Given the description of an element on the screen output the (x, y) to click on. 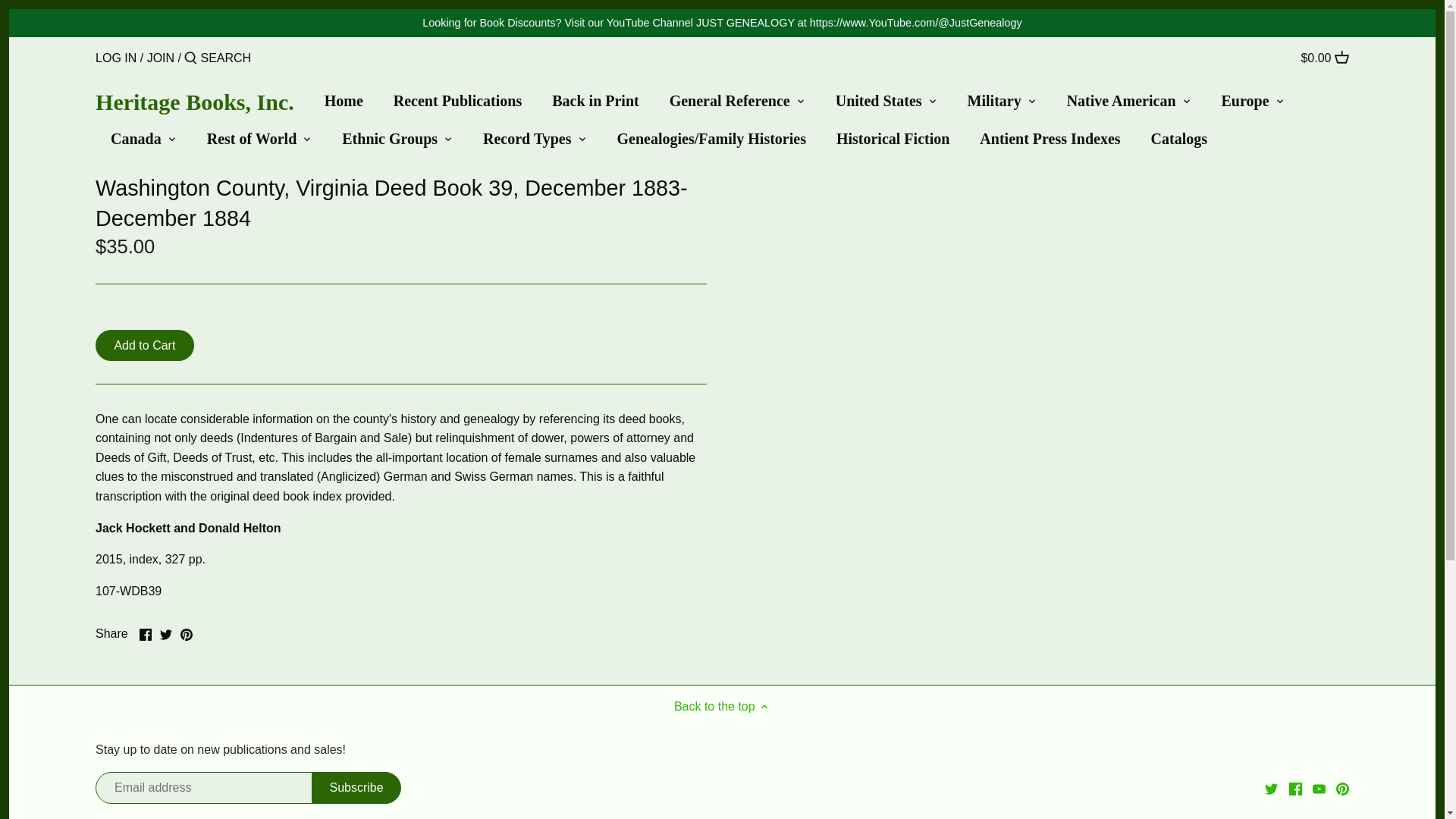
Twitter (1271, 788)
Subscribe (356, 787)
Back in Print (595, 103)
Facebook (145, 634)
General Reference (729, 103)
JOIN (160, 57)
Youtube (1318, 788)
Recent Publications (457, 103)
LOG IN (116, 57)
Pinterest (186, 634)
